Given the description of an element on the screen output the (x, y) to click on. 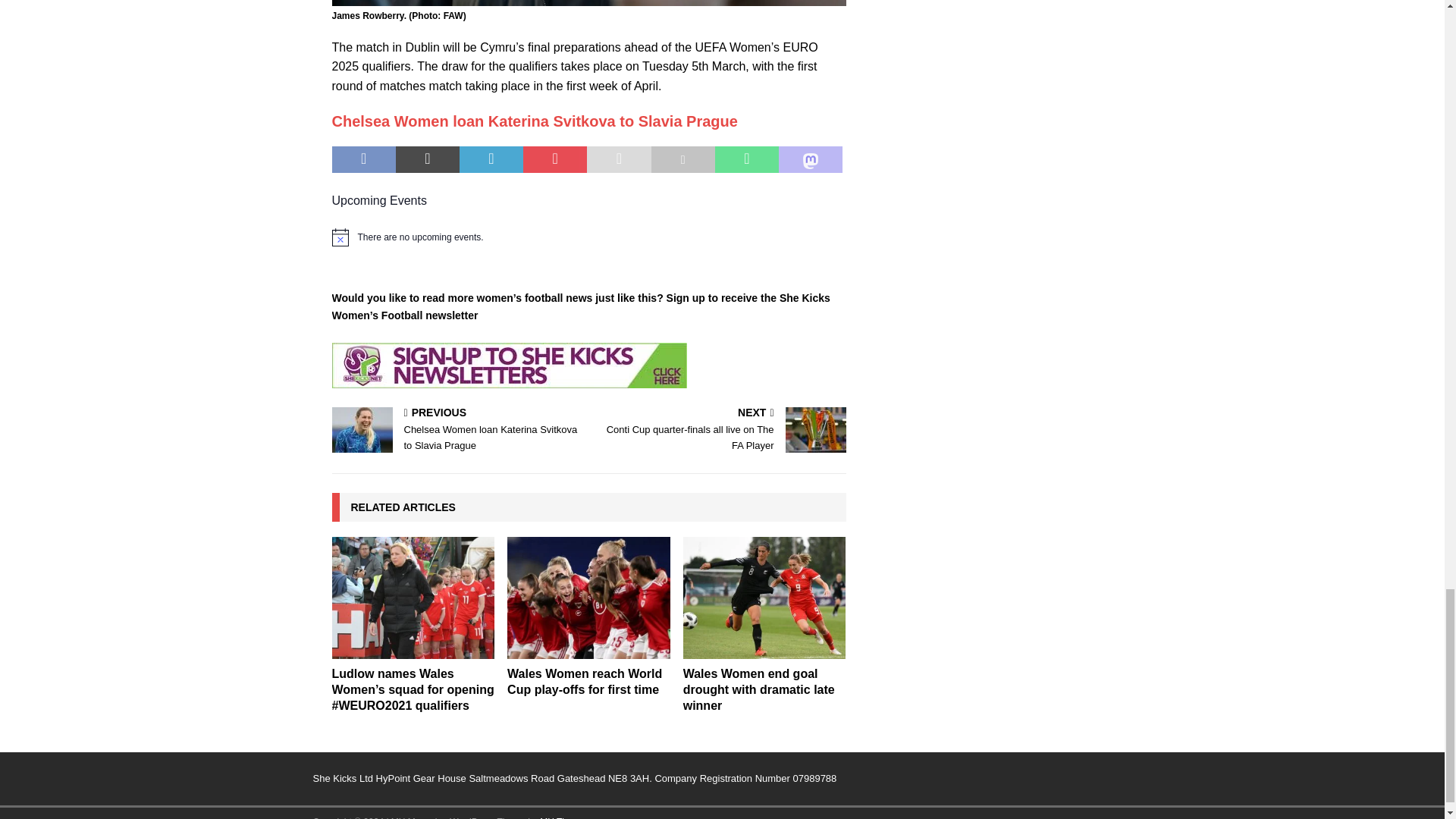
Tweet This Post (428, 159)
Share on LinkedIn (491, 159)
Pin This Post (554, 159)
Share on Facebook (363, 159)
Chelsea Women loan Katerina Svitkova to Slavia Prague (534, 121)
Send this article to a friend (618, 159)
